Given the description of an element on the screen output the (x, y) to click on. 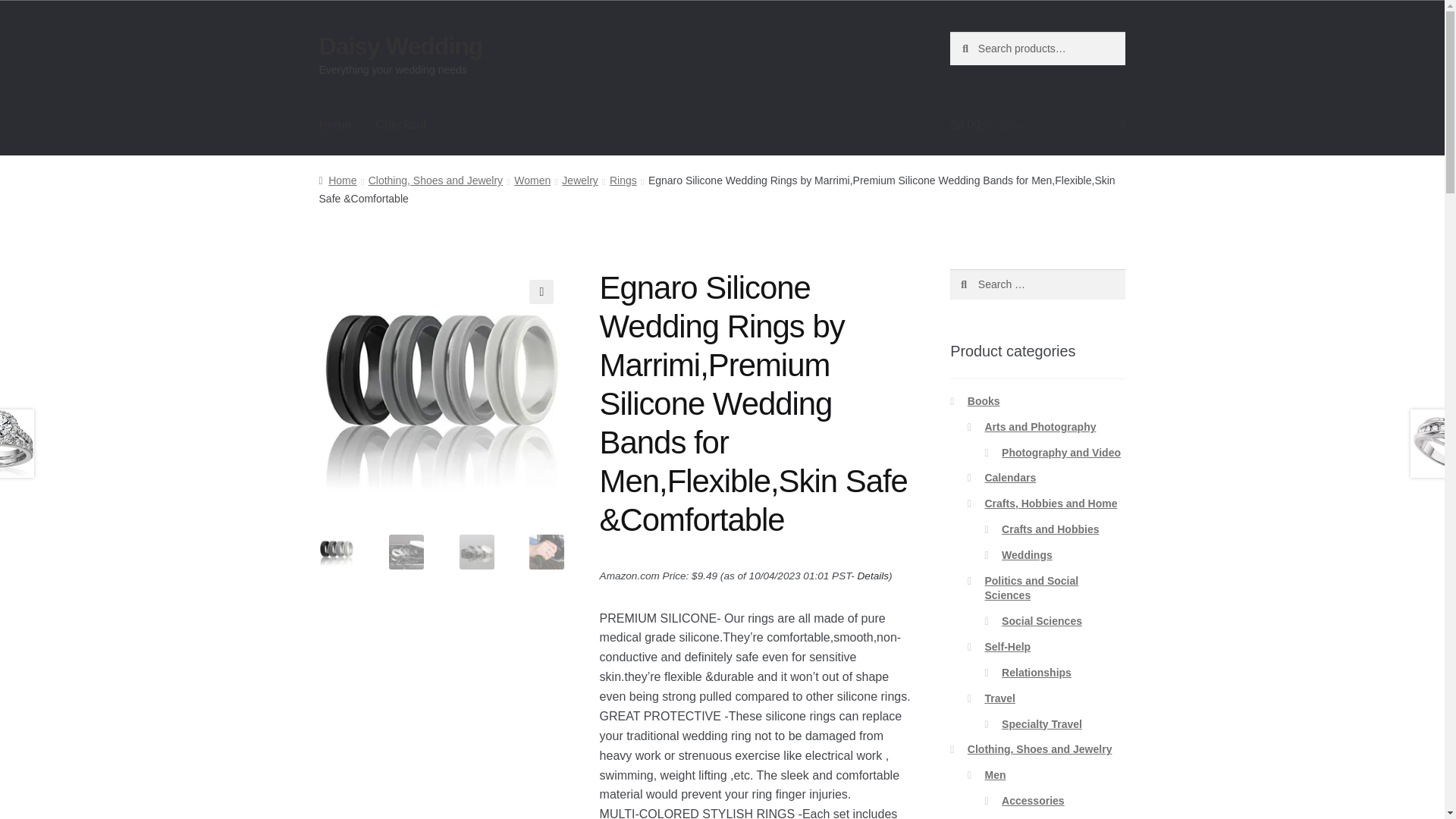
Clothing, Shoes and Jewelry (435, 180)
Rings (623, 180)
Details (873, 575)
Daisy Wedding (400, 45)
Home (335, 124)
Jewelry (579, 180)
Checkout (400, 124)
View your shopping cart (1037, 124)
Home (337, 180)
